Given the description of an element on the screen output the (x, y) to click on. 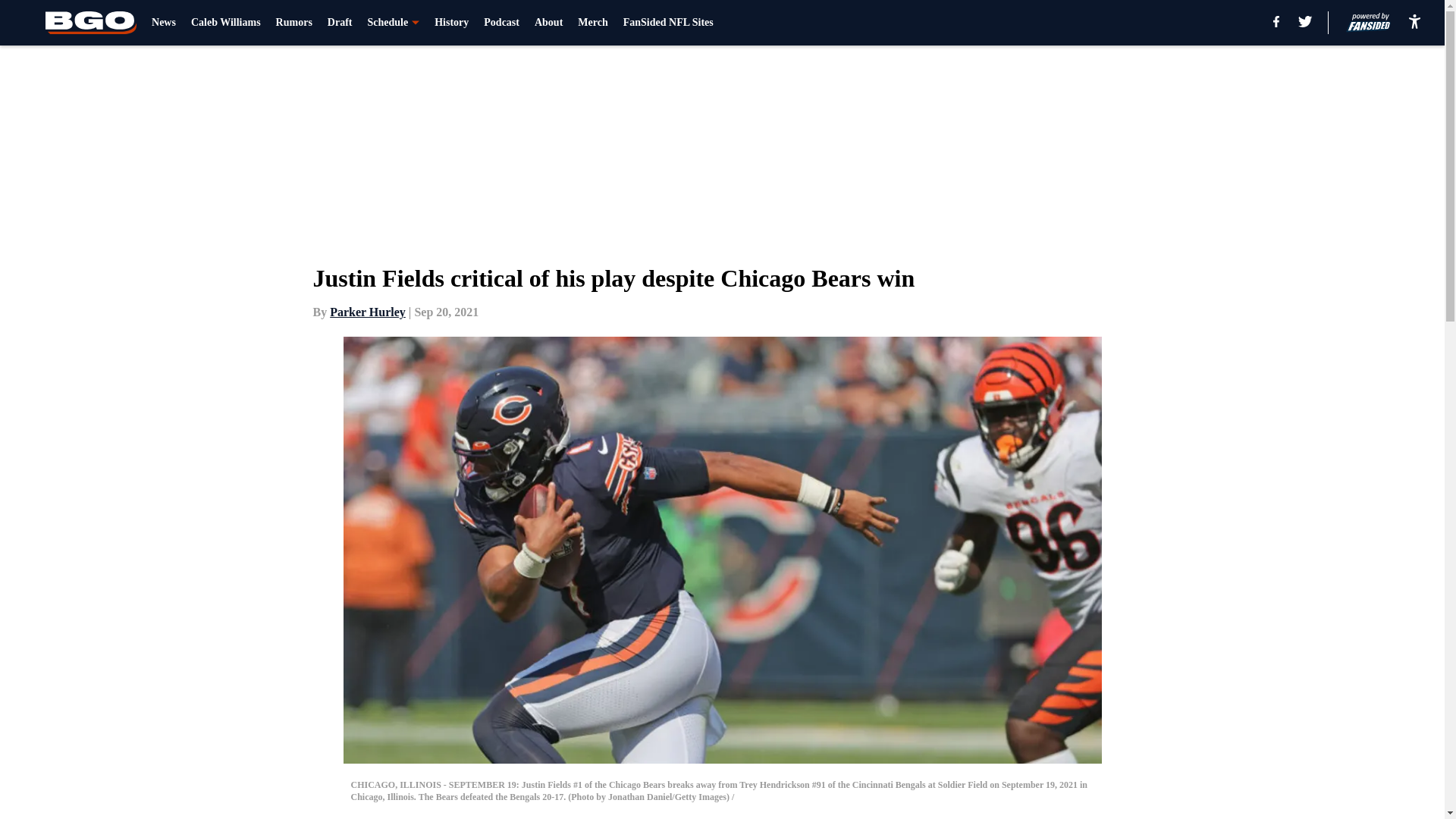
Podcast (501, 22)
News (163, 22)
FanSided NFL Sites (668, 22)
Caleb Williams (225, 22)
About (548, 22)
Rumors (294, 22)
Parker Hurley (368, 311)
History (450, 22)
Draft (339, 22)
Merch (592, 22)
